Given the description of an element on the screen output the (x, y) to click on. 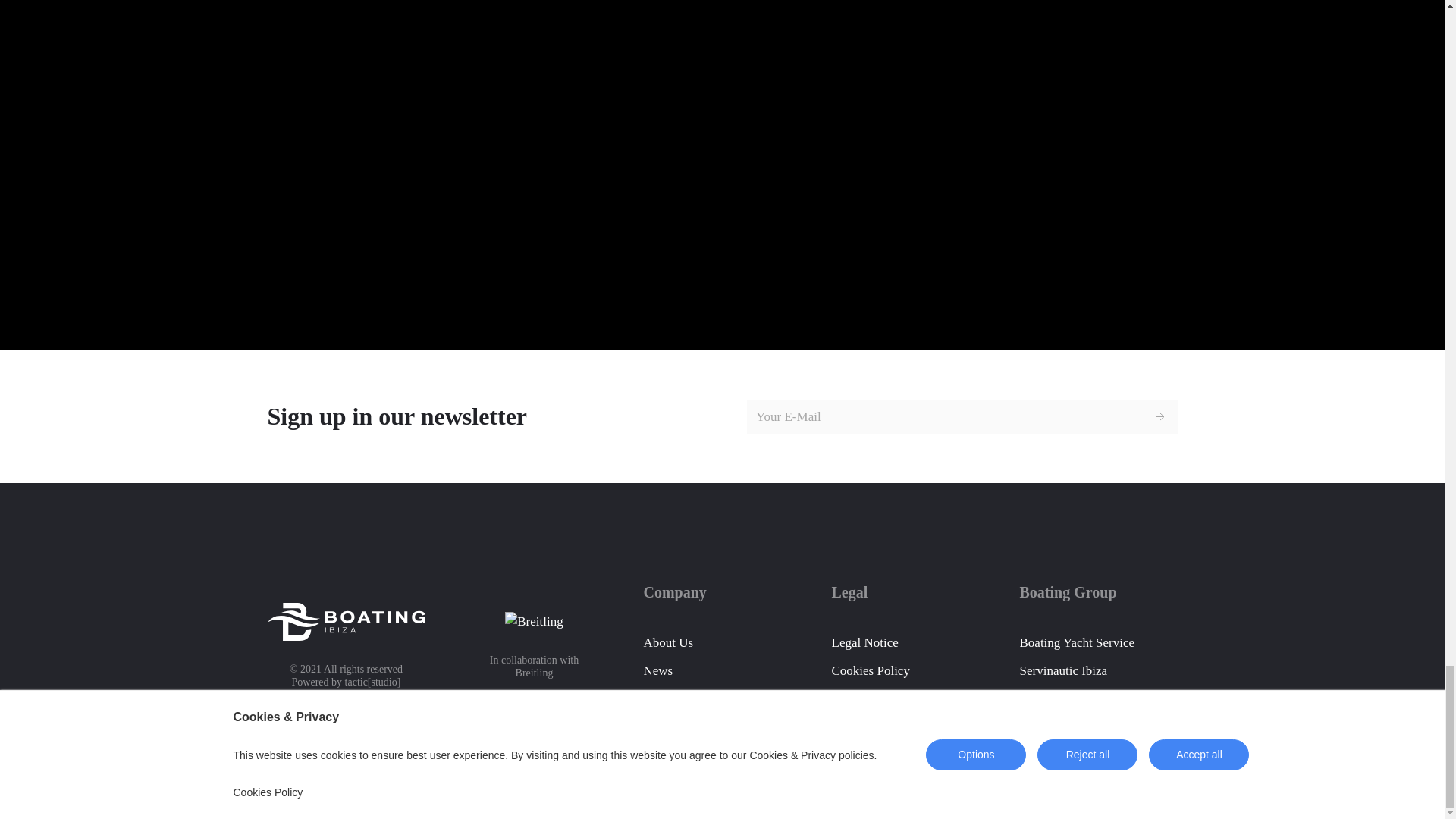
Web design agency in Ibiza (373, 681)
Subscribe (1159, 416)
Breitling (534, 672)
Legal Notice (909, 643)
Contact (662, 698)
About Us (668, 642)
News (657, 670)
